Given the description of an element on the screen output the (x, y) to click on. 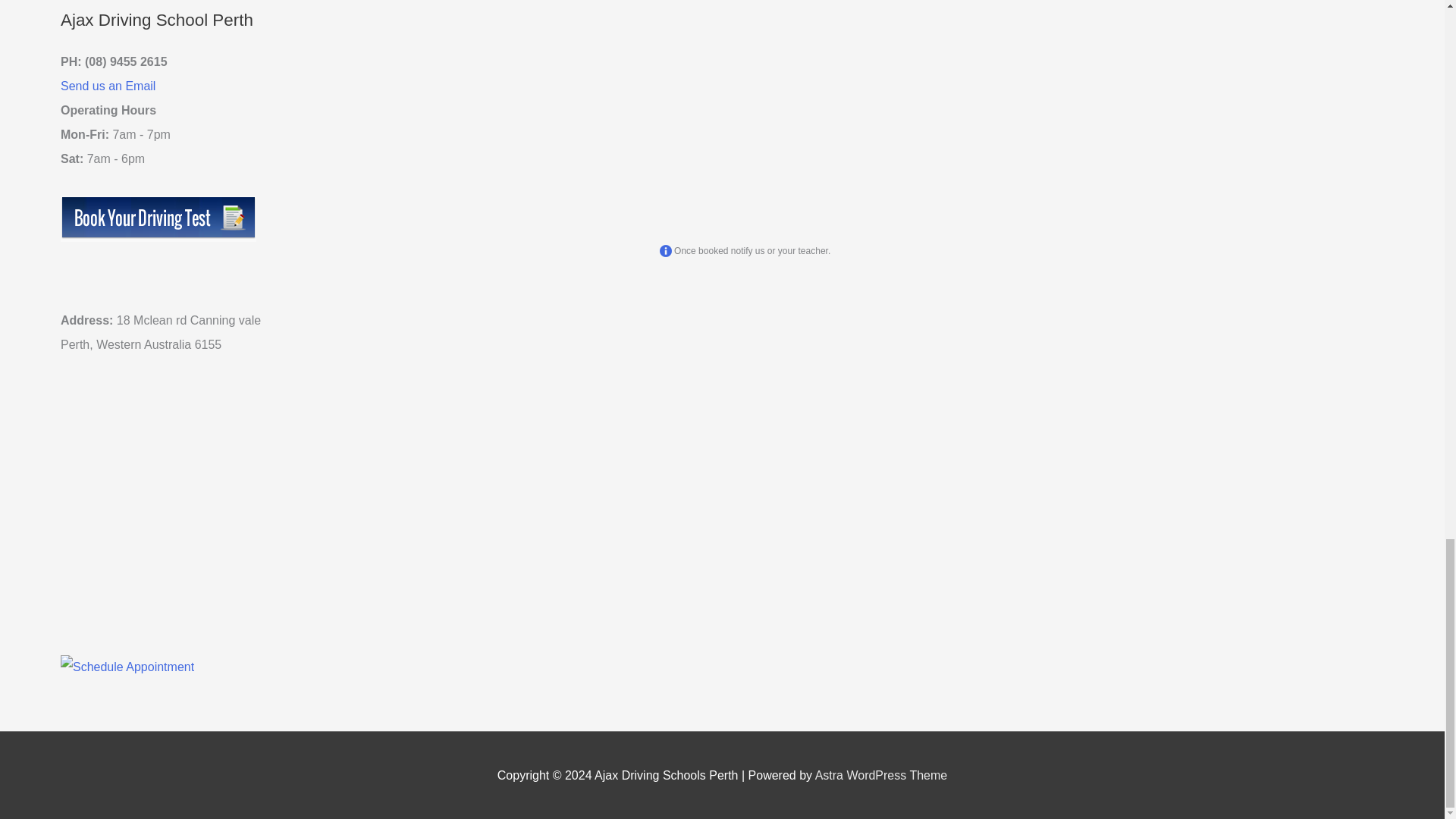
Send us an Email (108, 85)
Astra WordPress Theme (881, 775)
Schedule Appointment (127, 666)
